Given the description of an element on the screen output the (x, y) to click on. 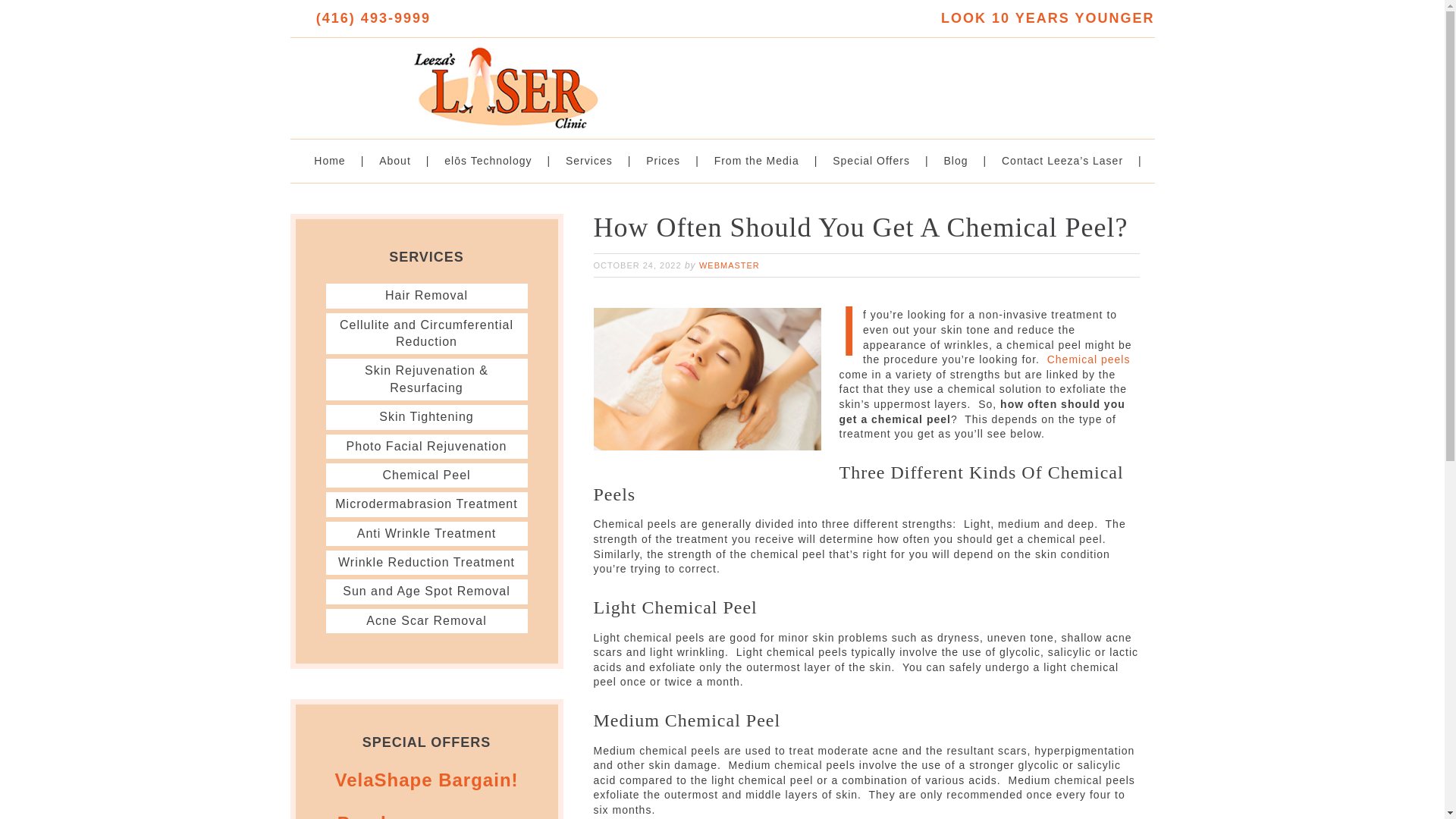
About (398, 160)
Facebook (300, 18)
Chemical Peel (425, 474)
From the Media (760, 160)
Skin Tightening (425, 416)
Blog (959, 160)
Chemical peels (1088, 358)
Photo Facial Rejuvenation (426, 445)
Leeza's Laser Clinic (505, 79)
Special Offers (874, 160)
Services (592, 160)
Prices (666, 160)
Cellulite and Circumferential Reduction (426, 333)
Microdermabrasion Treatment (425, 503)
Facebook (300, 18)
